Given the description of an element on the screen output the (x, y) to click on. 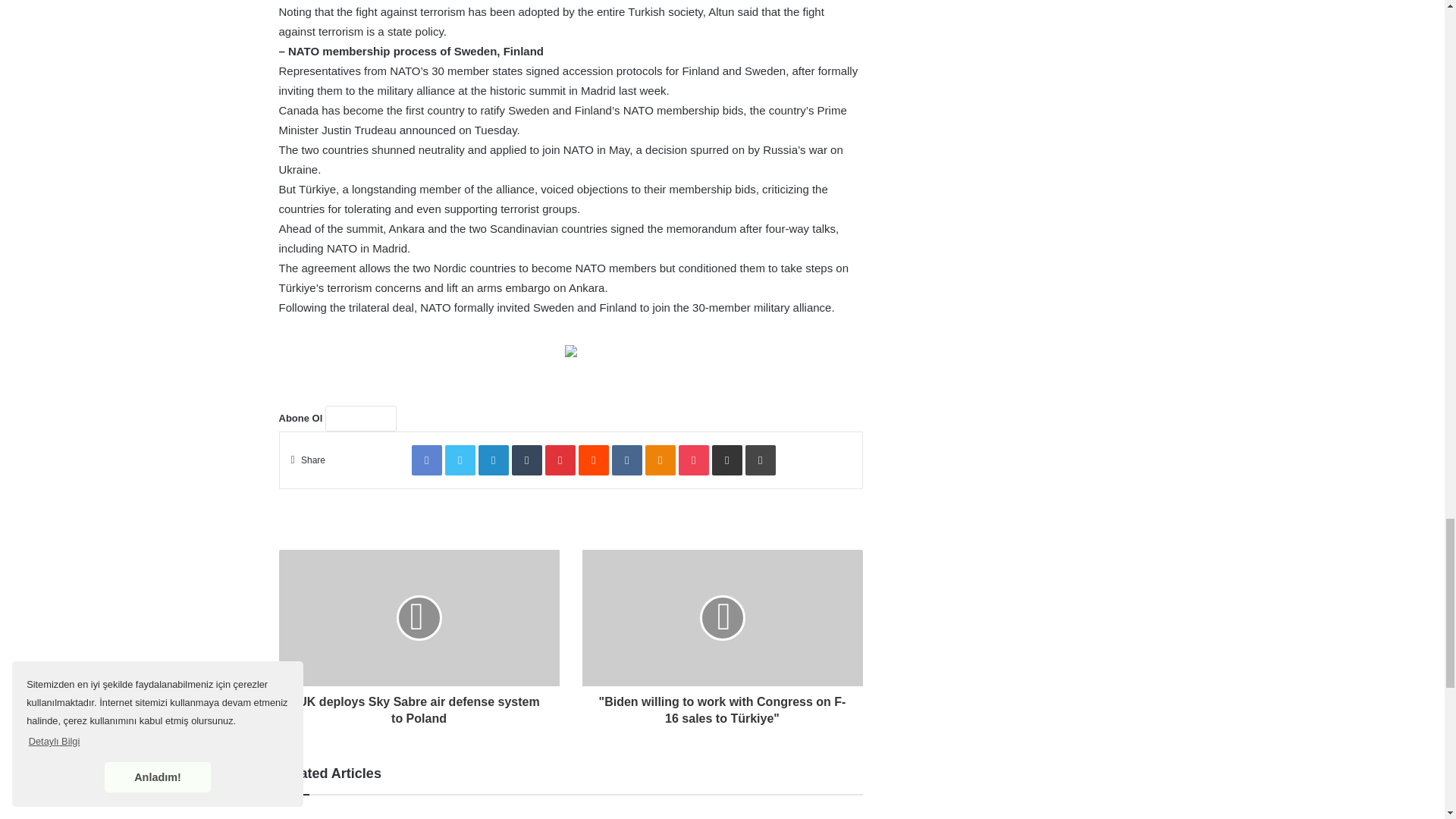
Facebook (427, 460)
Tumblr (526, 460)
Twitter (460, 460)
LinkedIn (493, 460)
Abone Ol (360, 418)
